Given the description of an element on the screen output the (x, y) to click on. 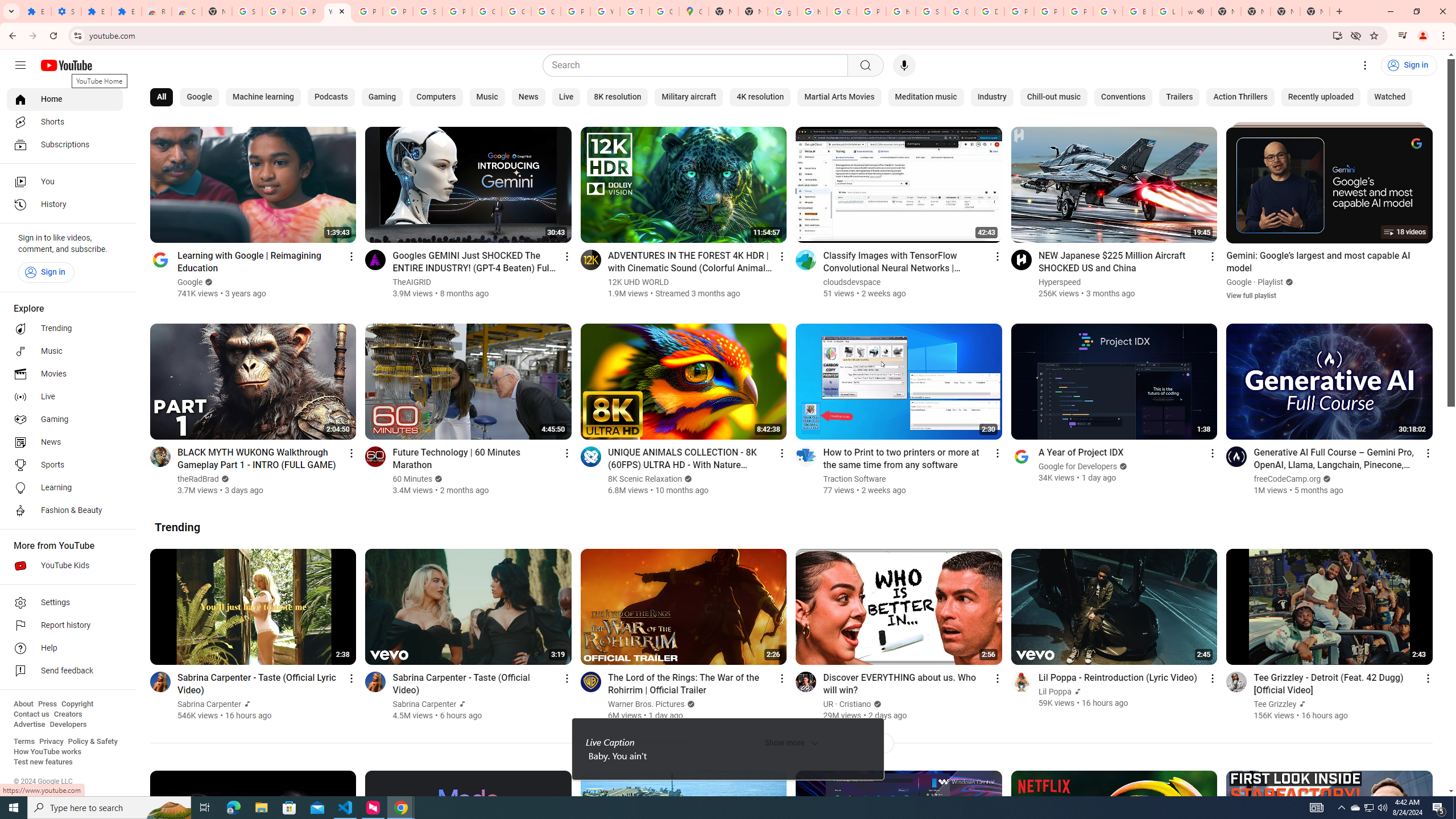
Lil Poppa (1055, 691)
Extensions (36, 11)
Advertise (29, 724)
Podcasts (331, 97)
Industry (991, 97)
Google Account (515, 11)
Learning (64, 487)
8K Scenic Relaxation (644, 478)
Google (198, 97)
Subscriptions (64, 144)
